Given the description of an element on the screen output the (x, y) to click on. 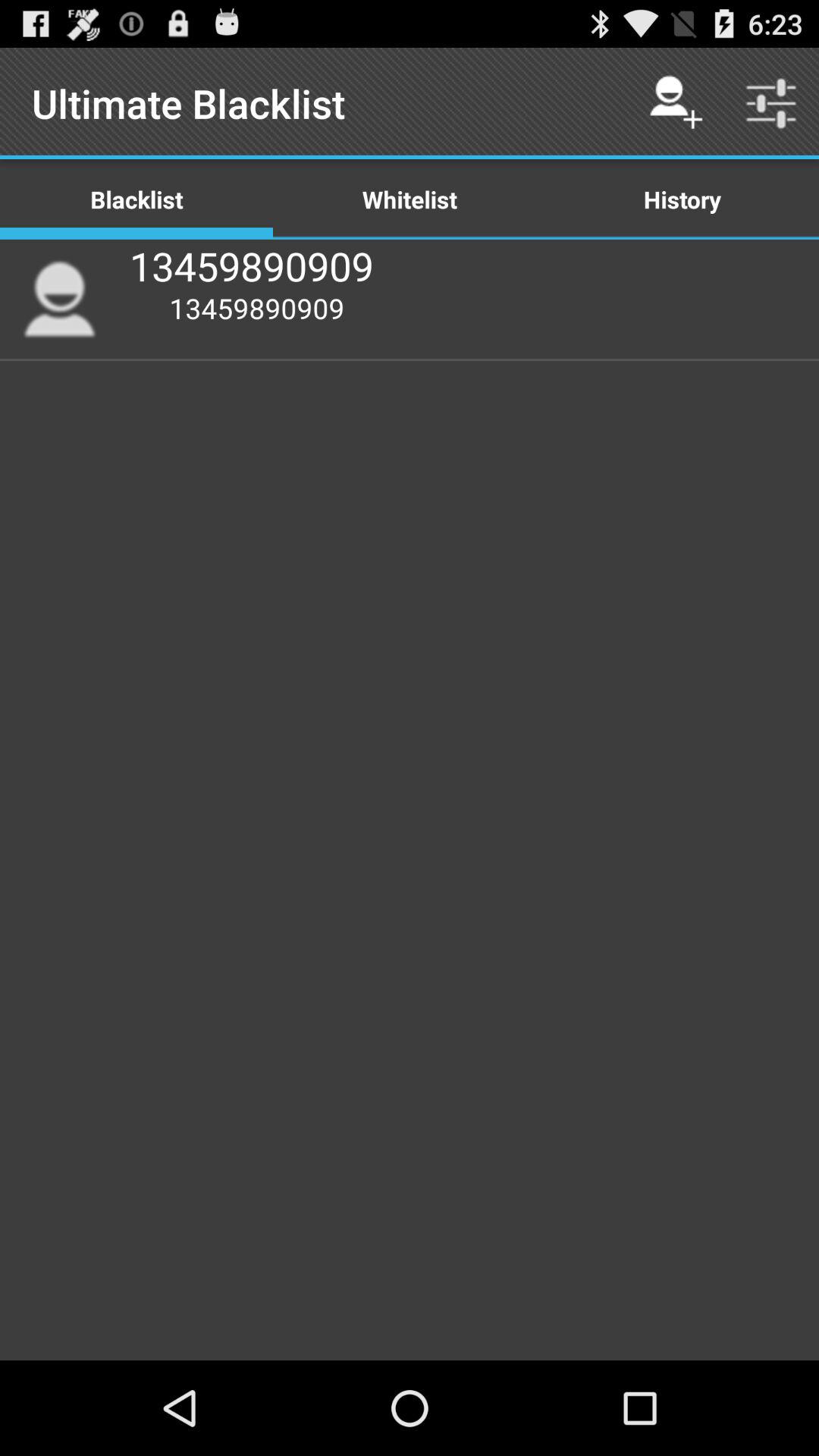
select the item to the right of the blacklist (409, 199)
